Given the description of an element on the screen output the (x, y) to click on. 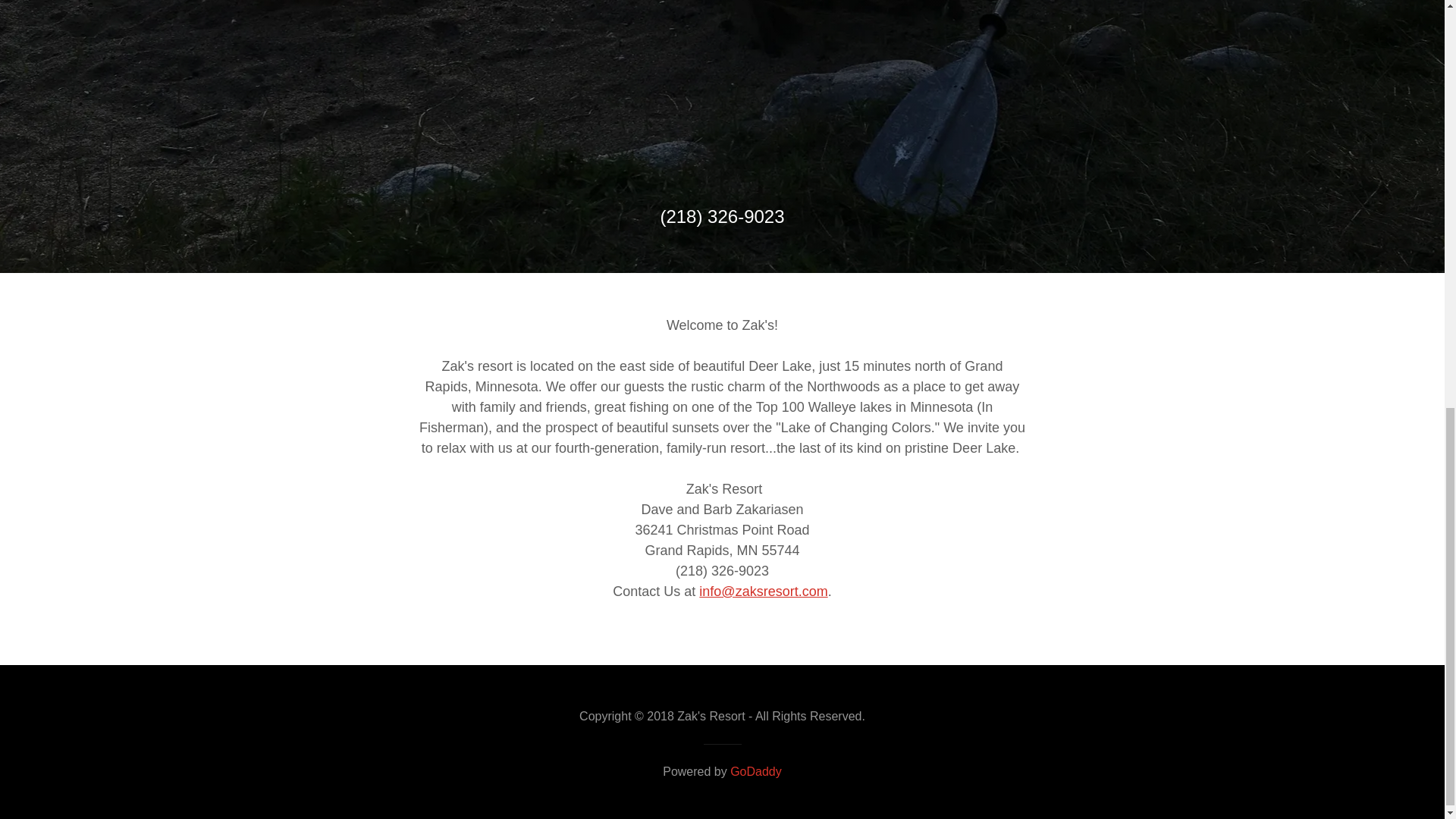
GoDaddy (755, 771)
